Given the description of an element on the screen output the (x, y) to click on. 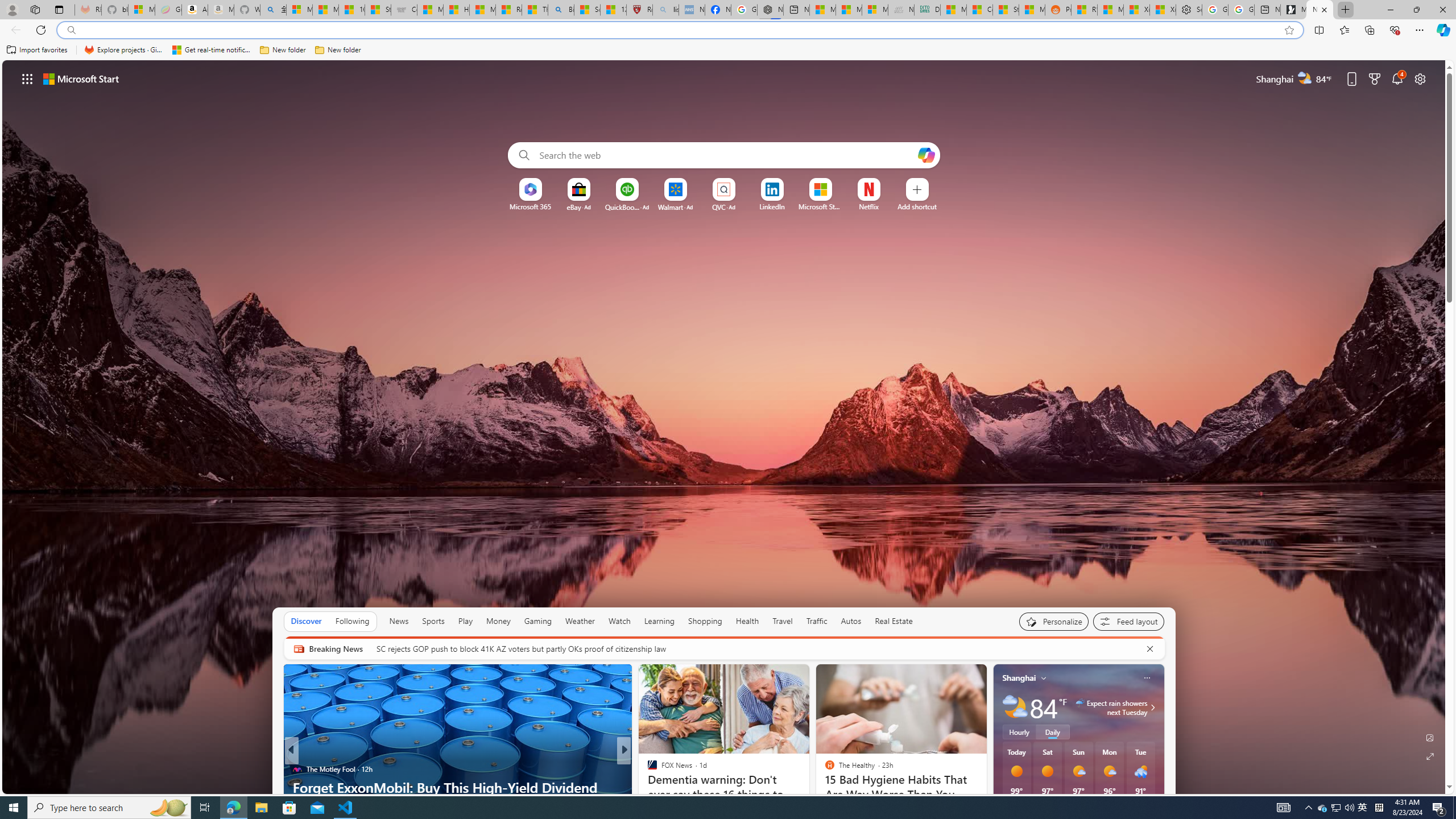
Cancel (1150, 648)
Import favorites (36, 49)
Partly cloudy (1014, 707)
App launcher (27, 78)
Favorites bar (728, 49)
R******* | Trusted Community Engagement and Contributions (1083, 9)
Wall Street Banks Caught Shortchanging Billions in Interest (807, 796)
